Given the description of an element on the screen output the (x, y) to click on. 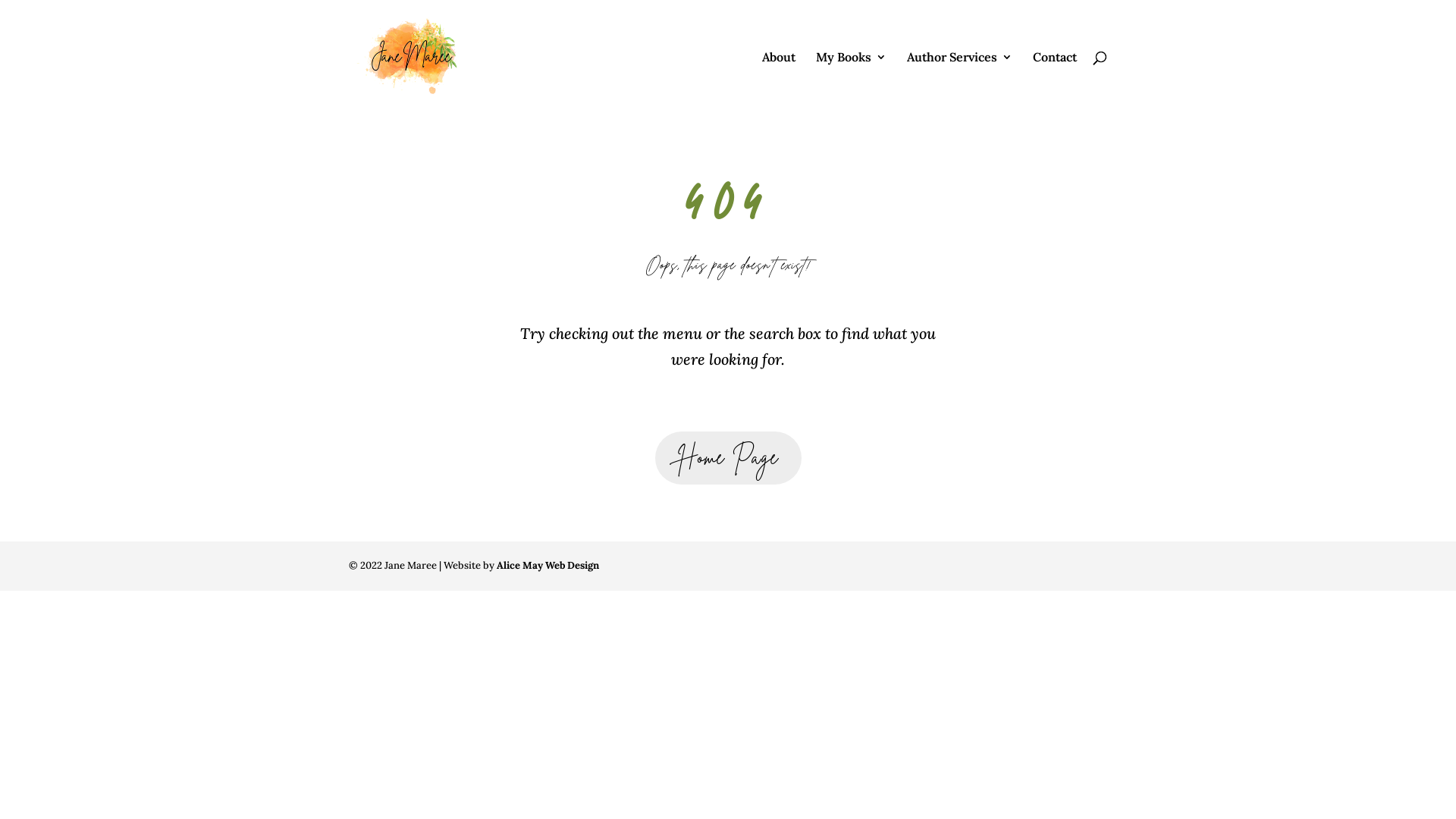
Author Services Element type: text (959, 82)
Contact Element type: text (1054, 82)
About Element type: text (778, 82)
My Books Element type: text (850, 82)
Alice May Web Design Element type: text (547, 564)
Home Page Element type: text (728, 458)
